Given the description of an element on the screen output the (x, y) to click on. 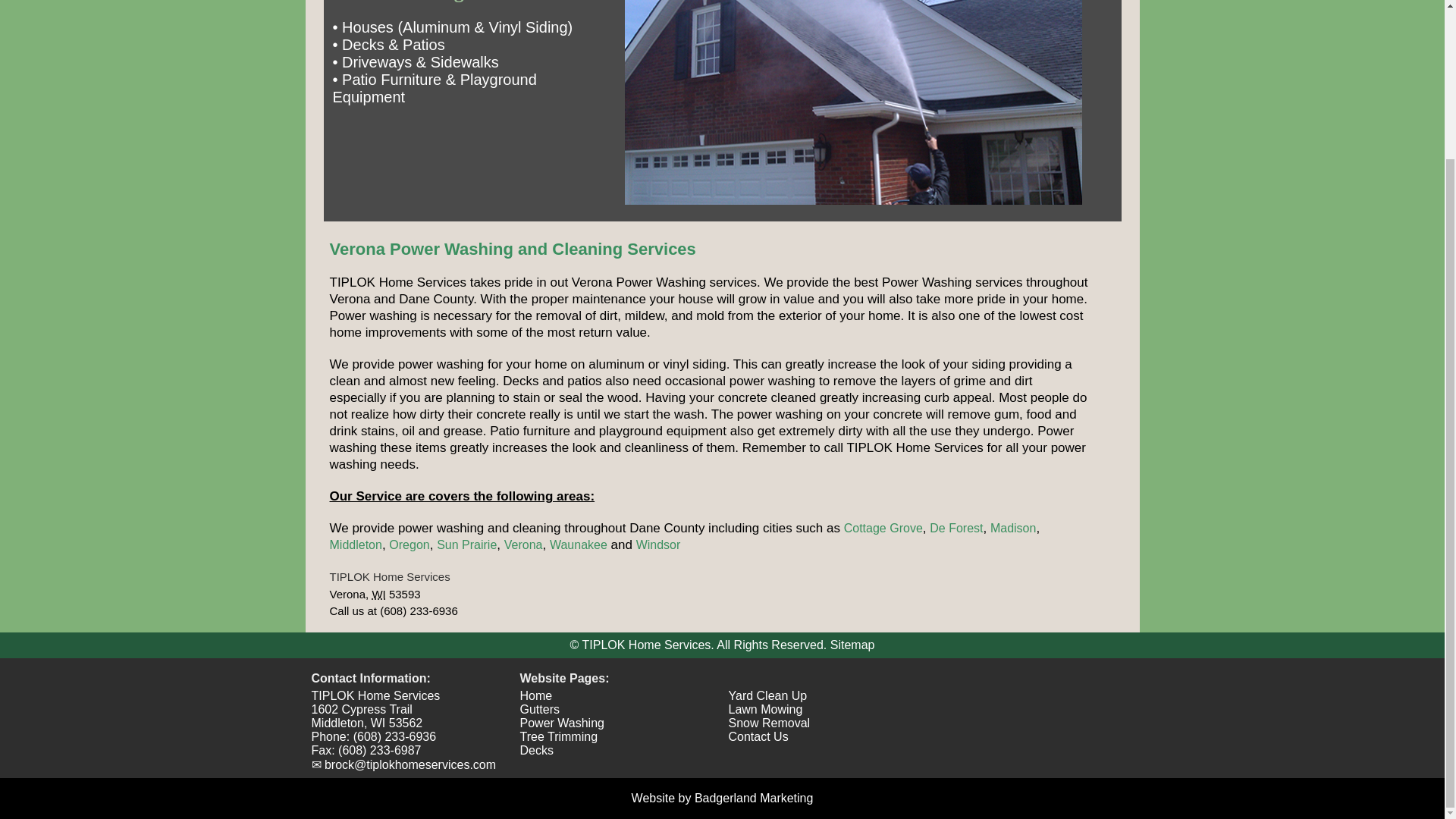
Decks (536, 749)
Tree Trimming (558, 736)
Cottage Grove (883, 527)
Windsor (658, 544)
Gutters (539, 708)
De Forest (956, 527)
Verona (523, 544)
TIPLOK Home Services (389, 576)
Sun Prairie (466, 544)
Wisconsin (378, 594)
Middleton (355, 544)
TIPLOK Home Services (375, 695)
Oregon (408, 544)
Sitemap (852, 644)
Power Washing (561, 722)
